Given the description of an element on the screen output the (x, y) to click on. 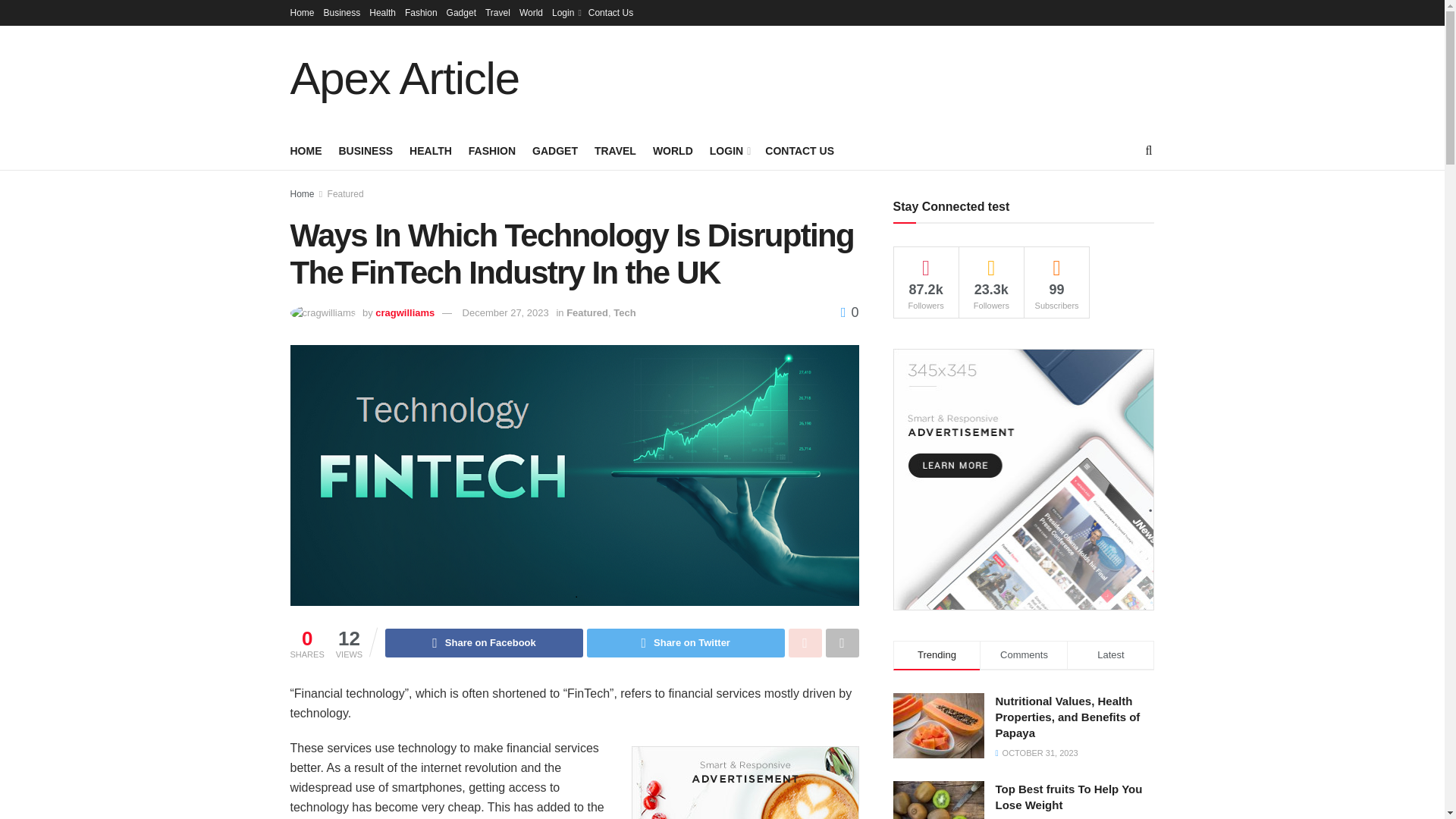
TRAVEL (615, 150)
Health (382, 12)
BUSINESS (365, 150)
WORLD (672, 150)
CONTACT US (799, 150)
Apex Article (403, 78)
Business (342, 12)
Gadget (461, 12)
HOME (305, 150)
Login (565, 12)
Home (301, 12)
Contact Us (610, 12)
Travel (497, 12)
HEALTH (430, 150)
FASHION (491, 150)
